Given the description of an element on the screen output the (x, y) to click on. 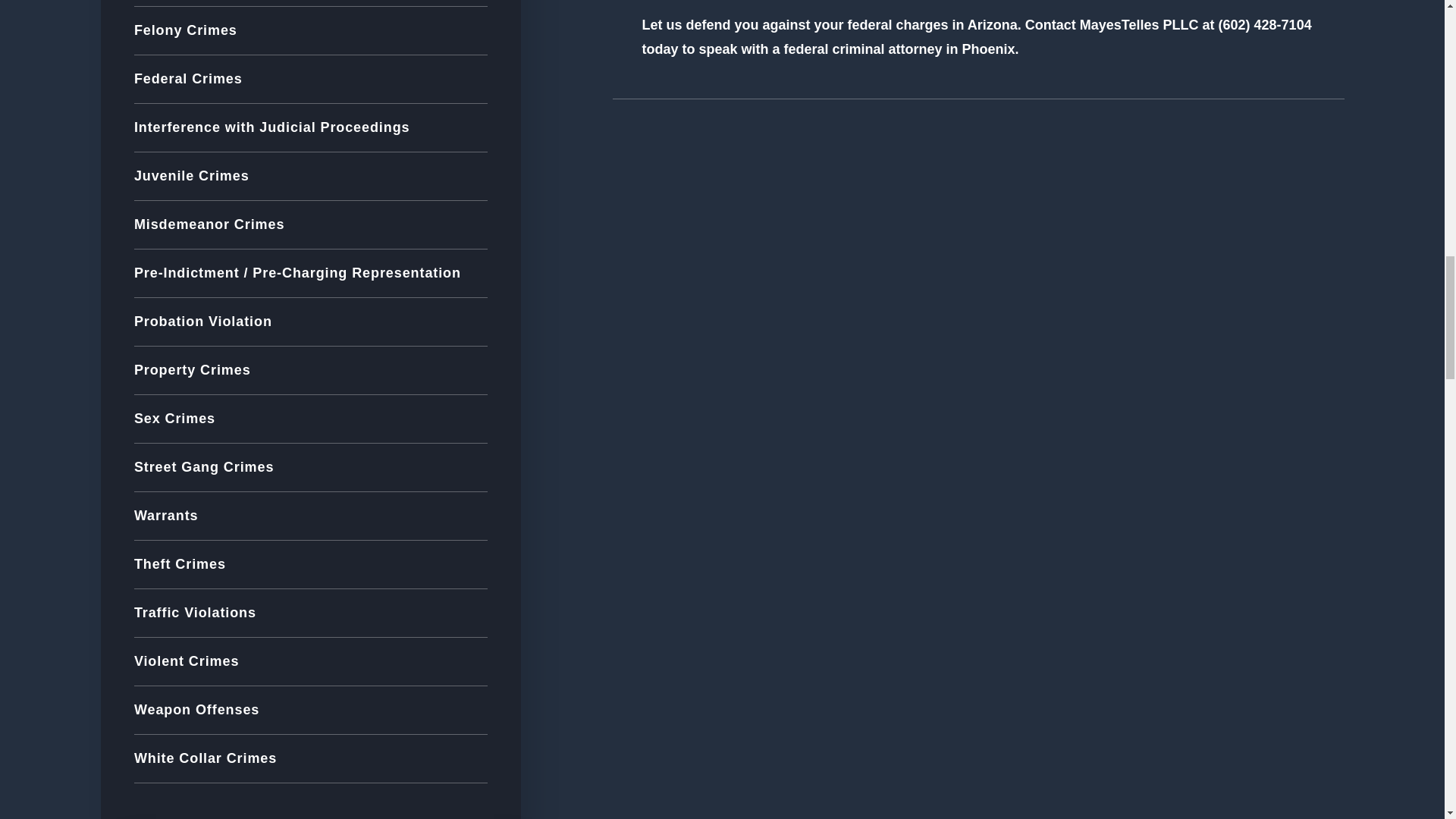
Open child menu of White Collar Crimes (480, 758)
Open child menu of Sex Crimes (480, 418)
Open child menu of Traffic Violations (480, 612)
Open child menu of Violent Crimes (480, 662)
Open child menu of Theft Crimes (480, 564)
